Given the description of an element on the screen output the (x, y) to click on. 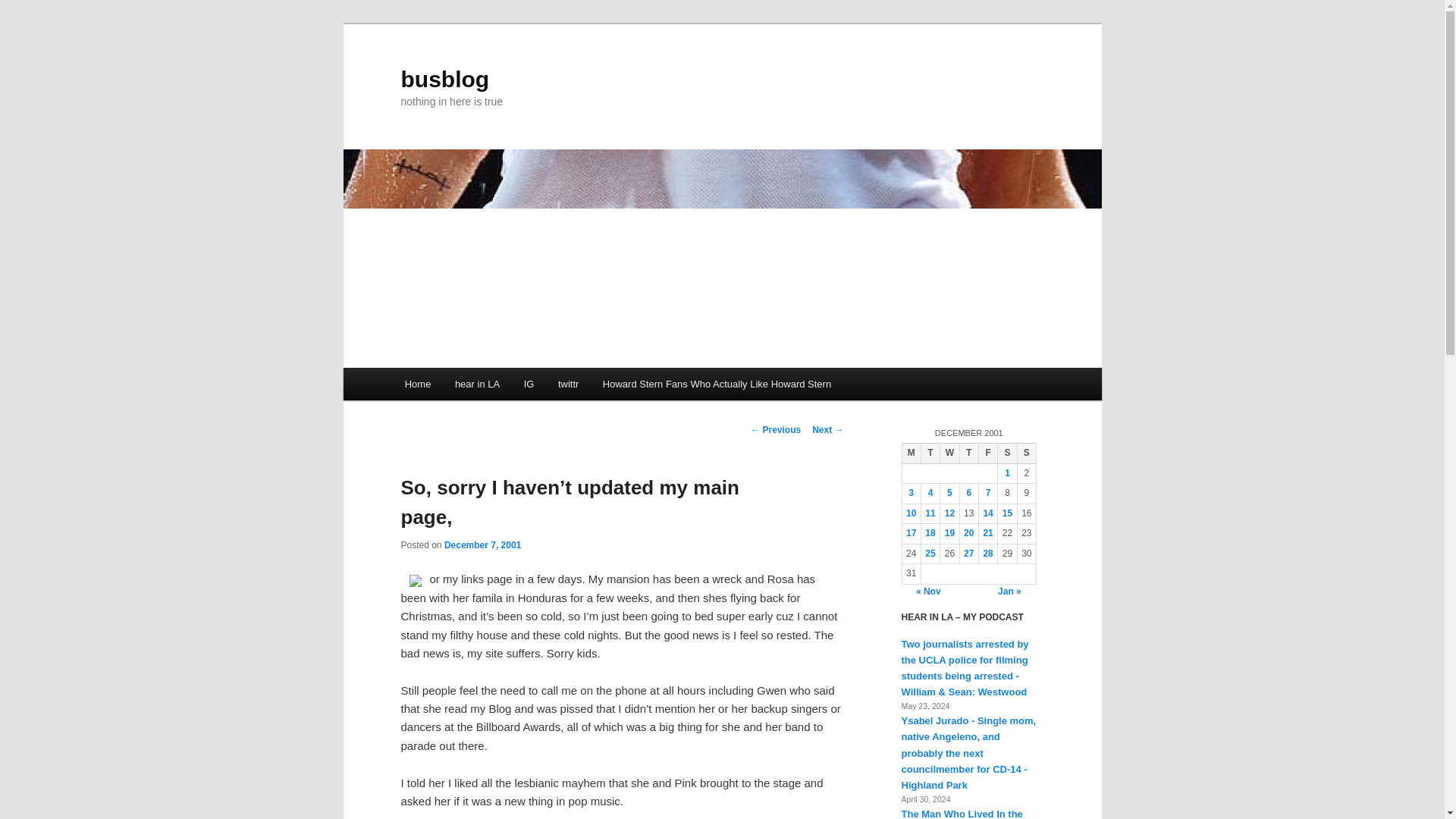
Wednesday (949, 453)
21 (987, 532)
hear in LA (477, 383)
12:05 pm (482, 544)
Tuesday (929, 453)
Howard Stern Fans Who Actually Like Howard Stern (717, 383)
twittr (568, 383)
Monday (910, 453)
28 (987, 552)
IG (529, 383)
17 (910, 532)
December 7, 2001 (482, 544)
Friday (987, 453)
11 (929, 512)
Home (417, 383)
